Given the description of an element on the screen output the (x, y) to click on. 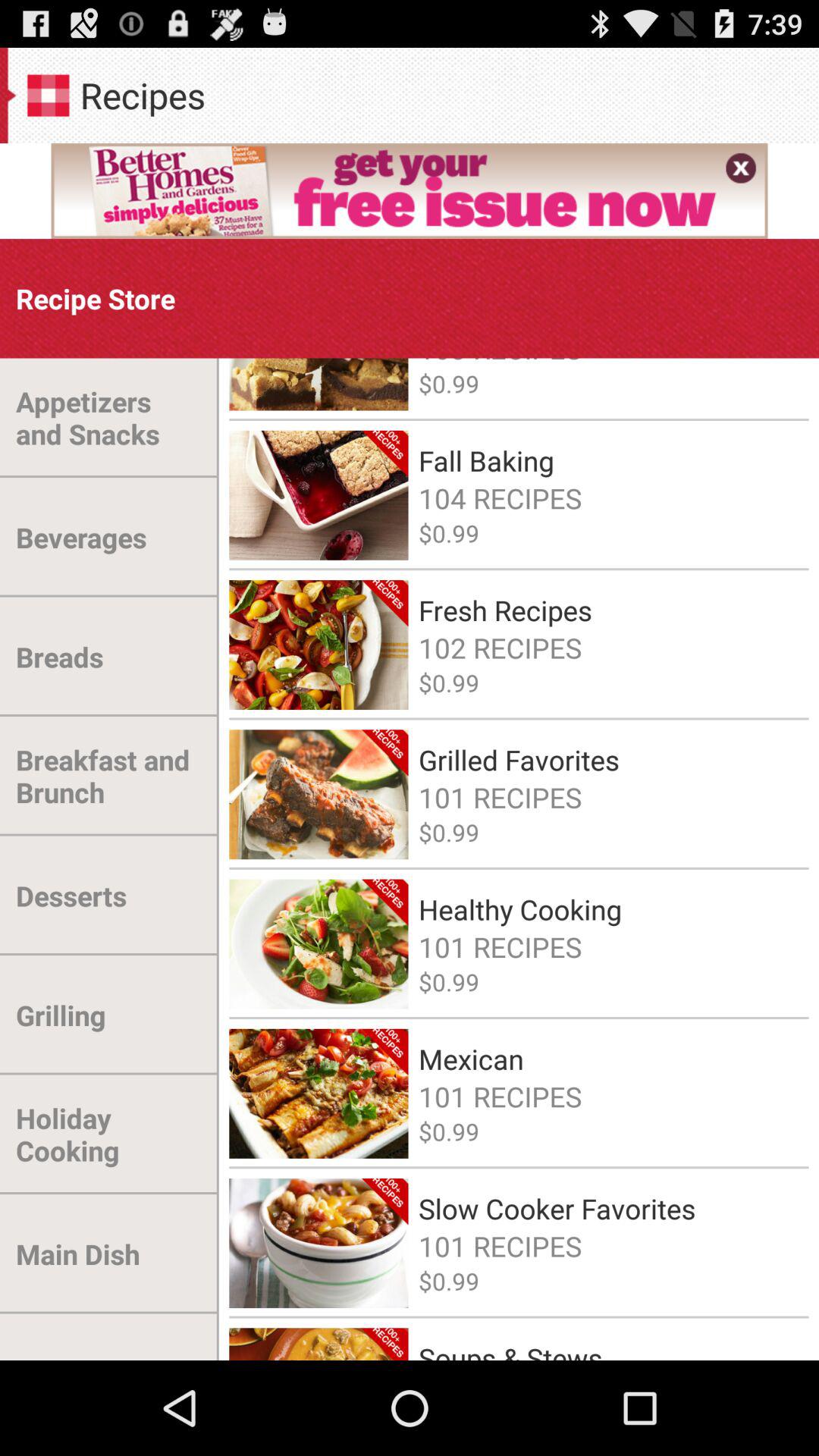
swipe to the main dish (77, 1253)
